Given the description of an element on the screen output the (x, y) to click on. 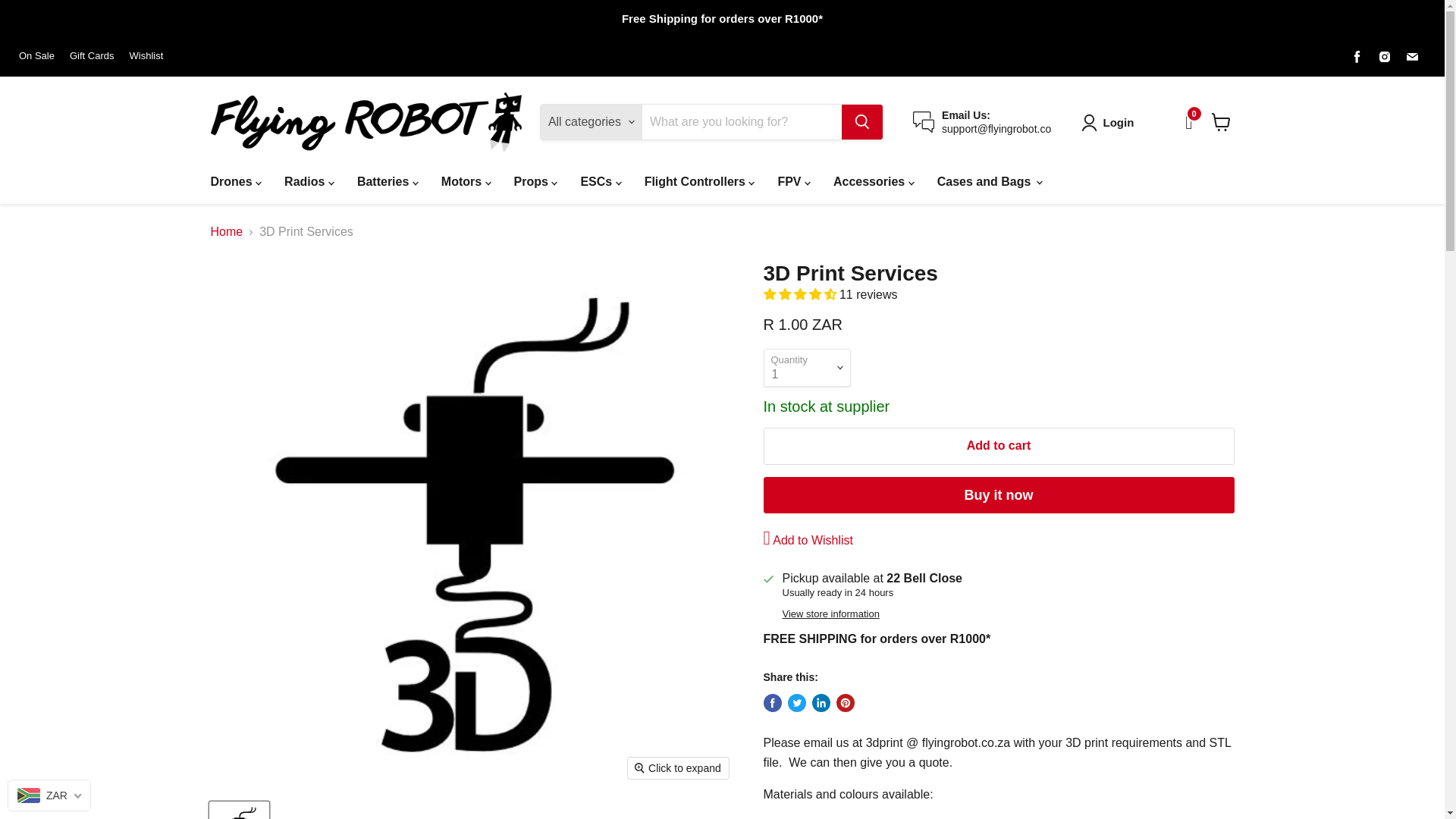
Drones (235, 182)
Find us on Instagram (1384, 55)
Login (1118, 122)
Find us on Email (1411, 55)
Find us on Facebook (1357, 55)
On Sale (36, 56)
Wishlist (146, 56)
Email (1411, 55)
Facebook (1357, 55)
Instagram (1384, 55)
Gift Cards (92, 56)
View cart (1221, 121)
